Given the description of an element on the screen output the (x, y) to click on. 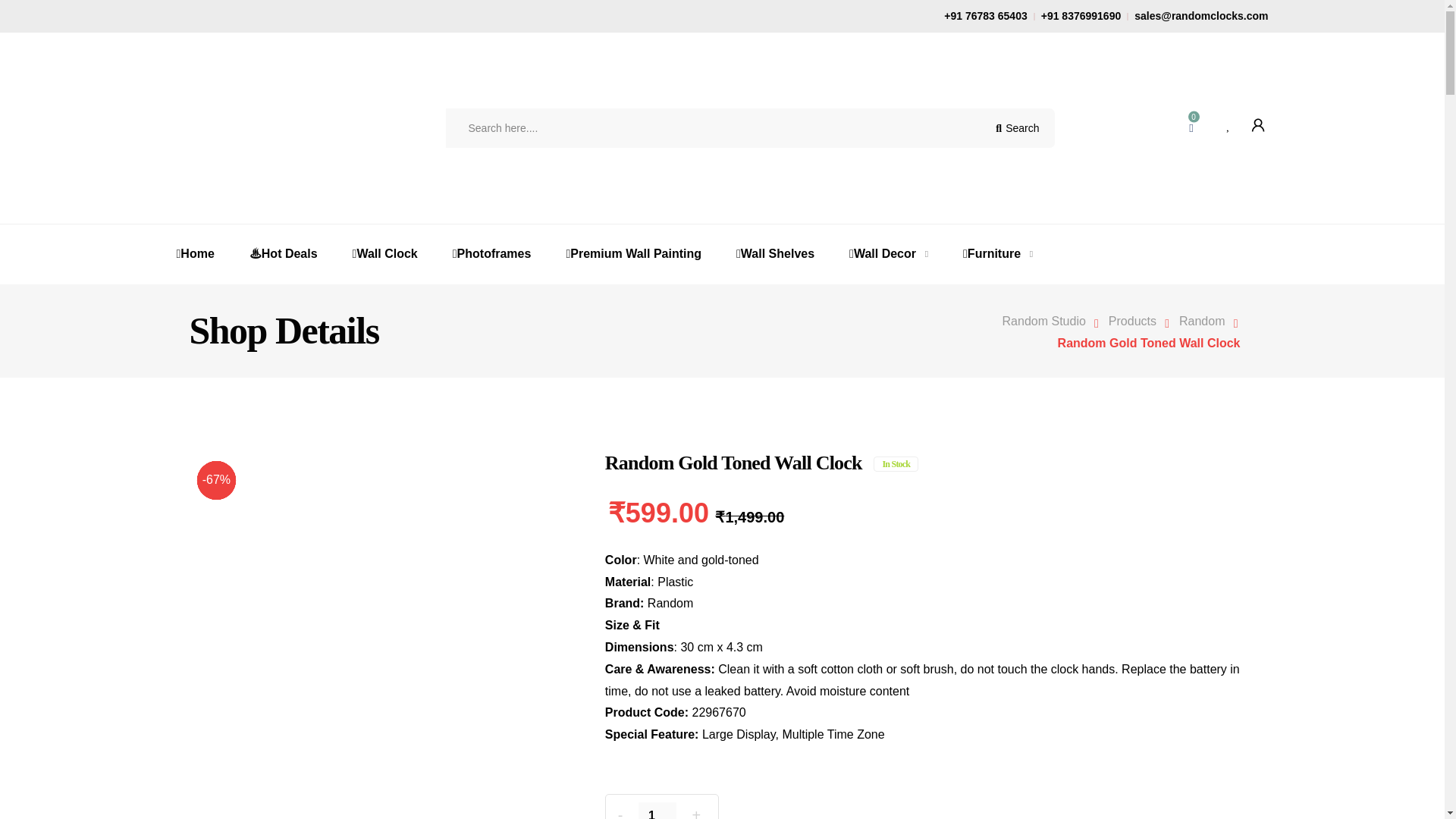
- (619, 812)
1 (658, 810)
Go to the Random Brand archives. (1206, 320)
Qty (658, 810)
Search (1016, 128)
Go to Products. (1136, 320)
Go to Random Studio. (1051, 320)
